Given the description of an element on the screen output the (x, y) to click on. 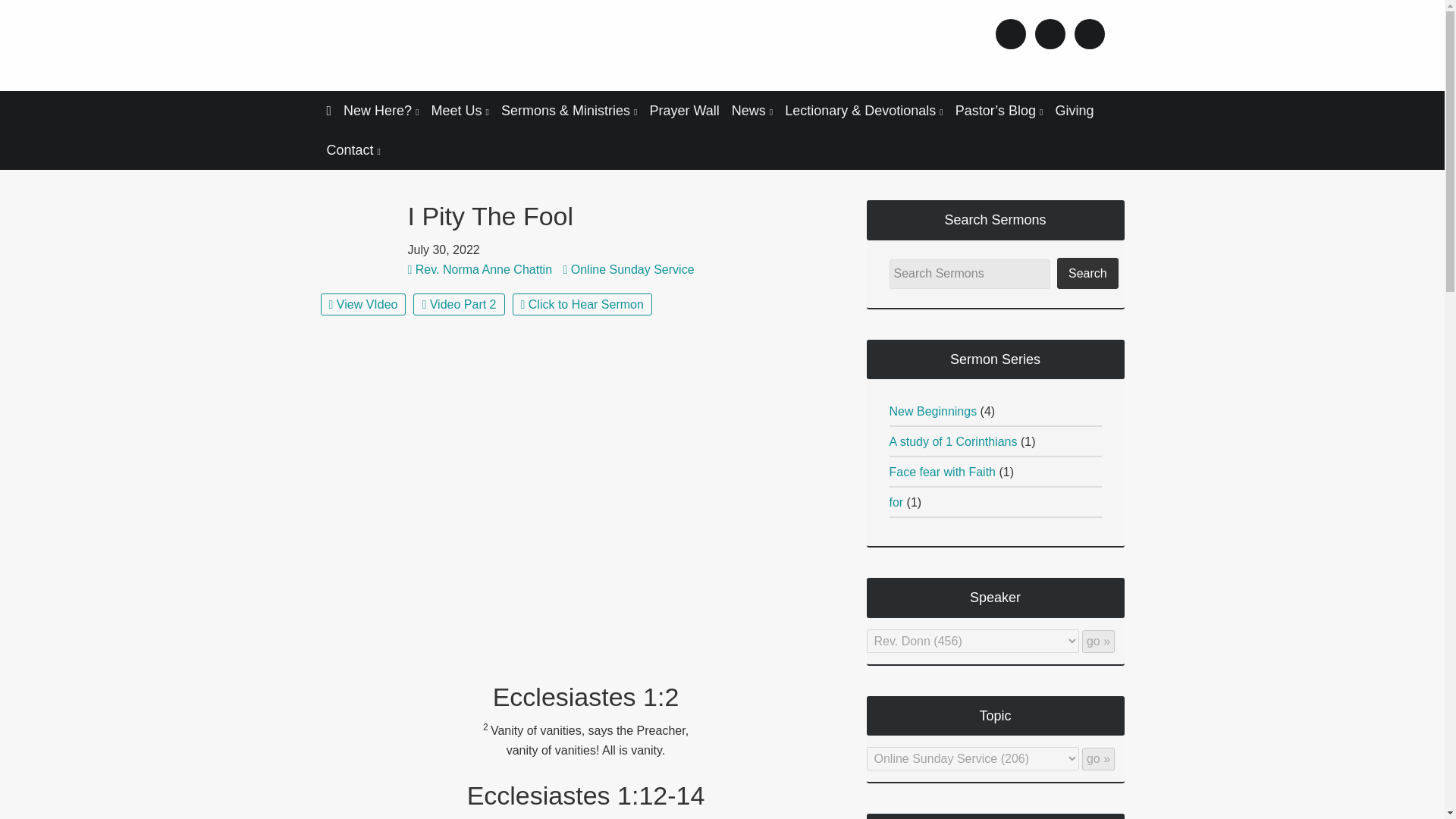
  Video Part 2  (458, 303)
Prayer Wall (684, 110)
View all sermons on Online Sunday Service (631, 268)
View all sermons by Rev. Norma Anne Chattin (483, 268)
View VIdeo  (363, 303)
First Christian WPB (448, 48)
Search Sermons (968, 274)
New Here? (381, 110)
Search (1087, 273)
Meet Us (460, 110)
Click to Hear Sermon (582, 303)
Search Sermons (968, 274)
News (751, 110)
